Given the description of an element on the screen output the (x, y) to click on. 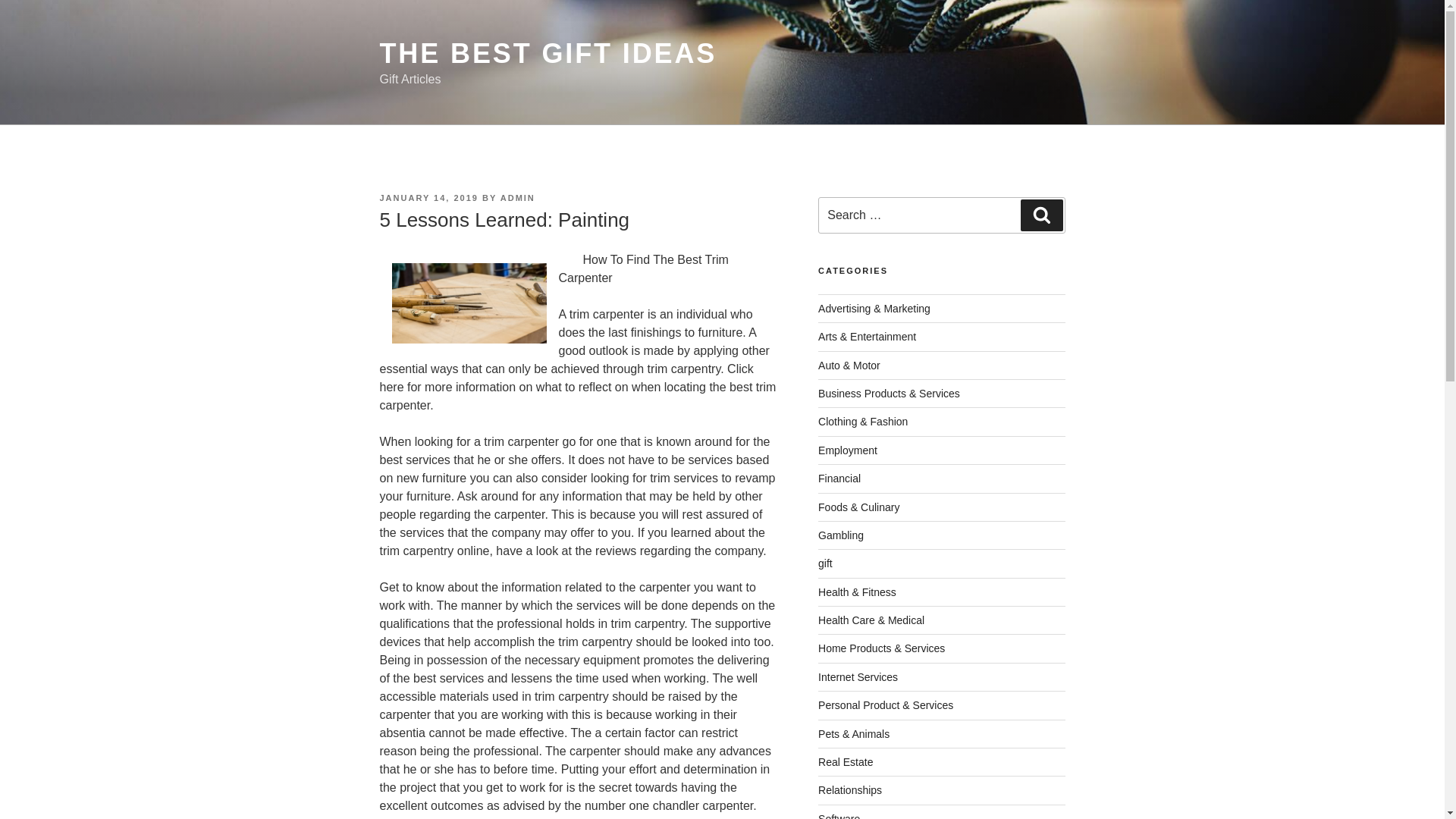
gift (825, 563)
Internet Services (858, 676)
Employment (847, 450)
Relationships (850, 789)
THE BEST GIFT IDEAS (547, 52)
Gambling (840, 535)
Real Estate (845, 761)
ADMIN (517, 197)
Software (839, 816)
Search (1041, 214)
